Given the description of an element on the screen output the (x, y) to click on. 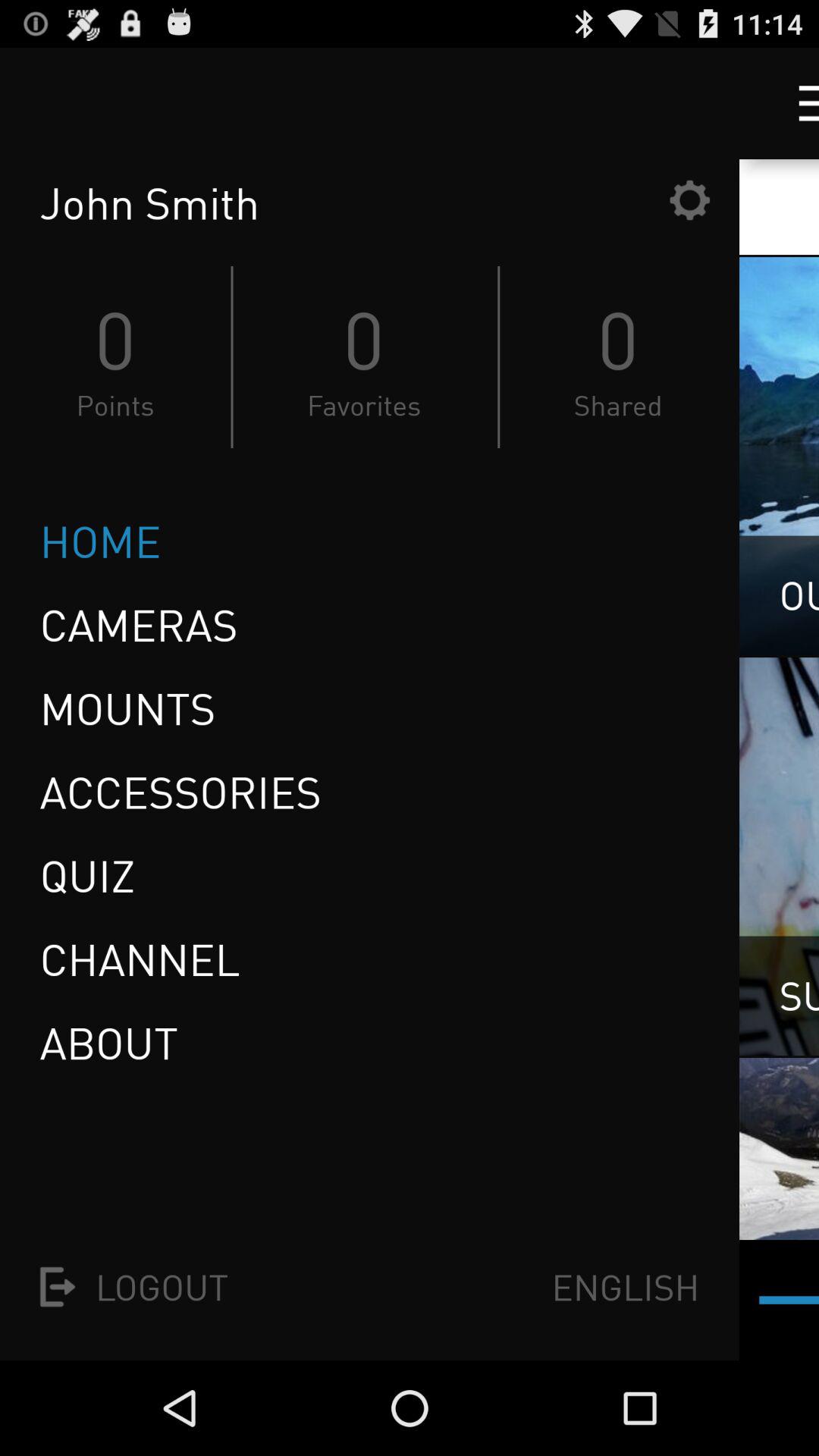
select icon above quiz  icon (180, 792)
